Given the description of an element on the screen output the (x, y) to click on. 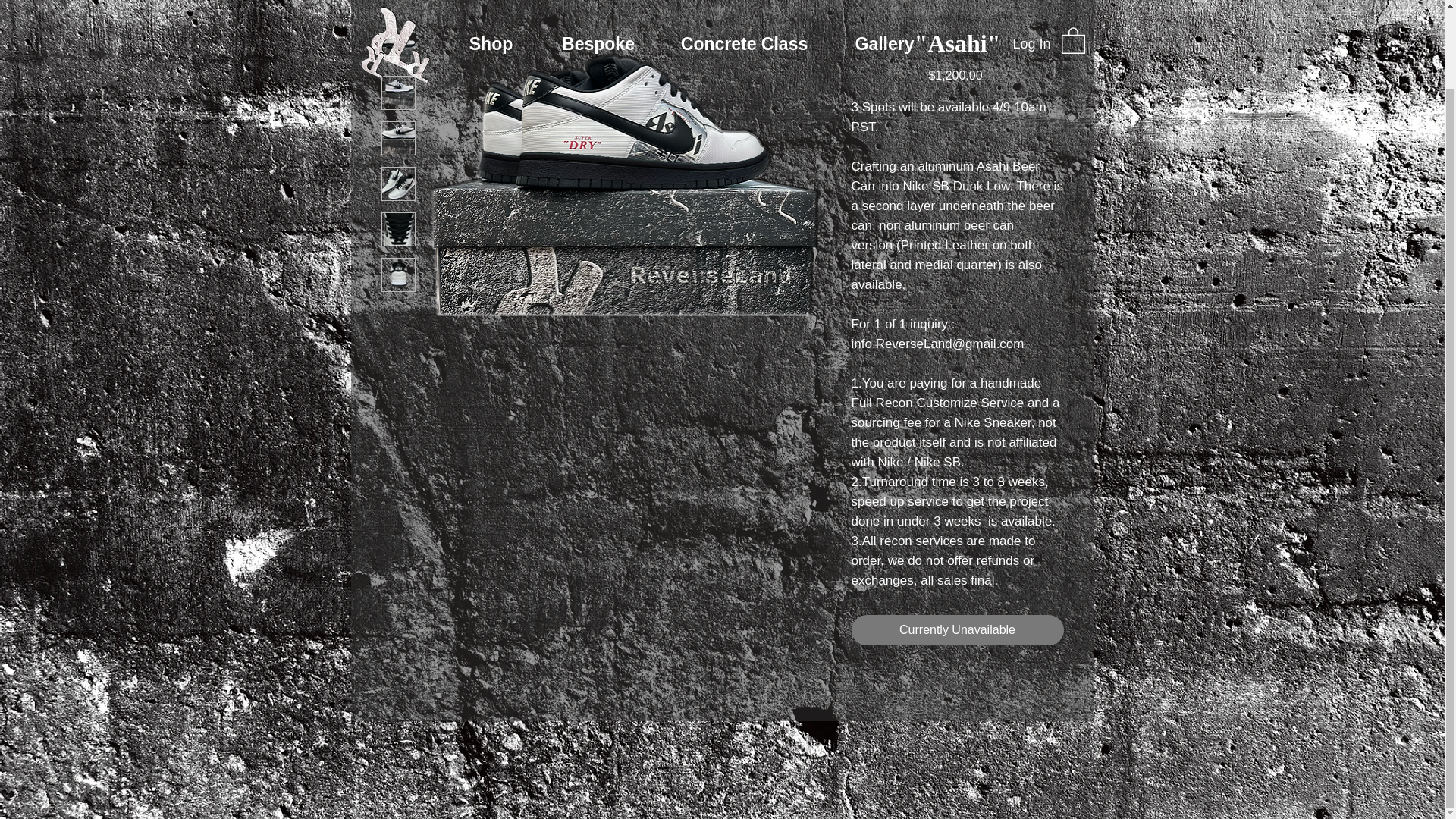
Currently Unavailable (956, 630)
